Given the description of an element on the screen output the (x, y) to click on. 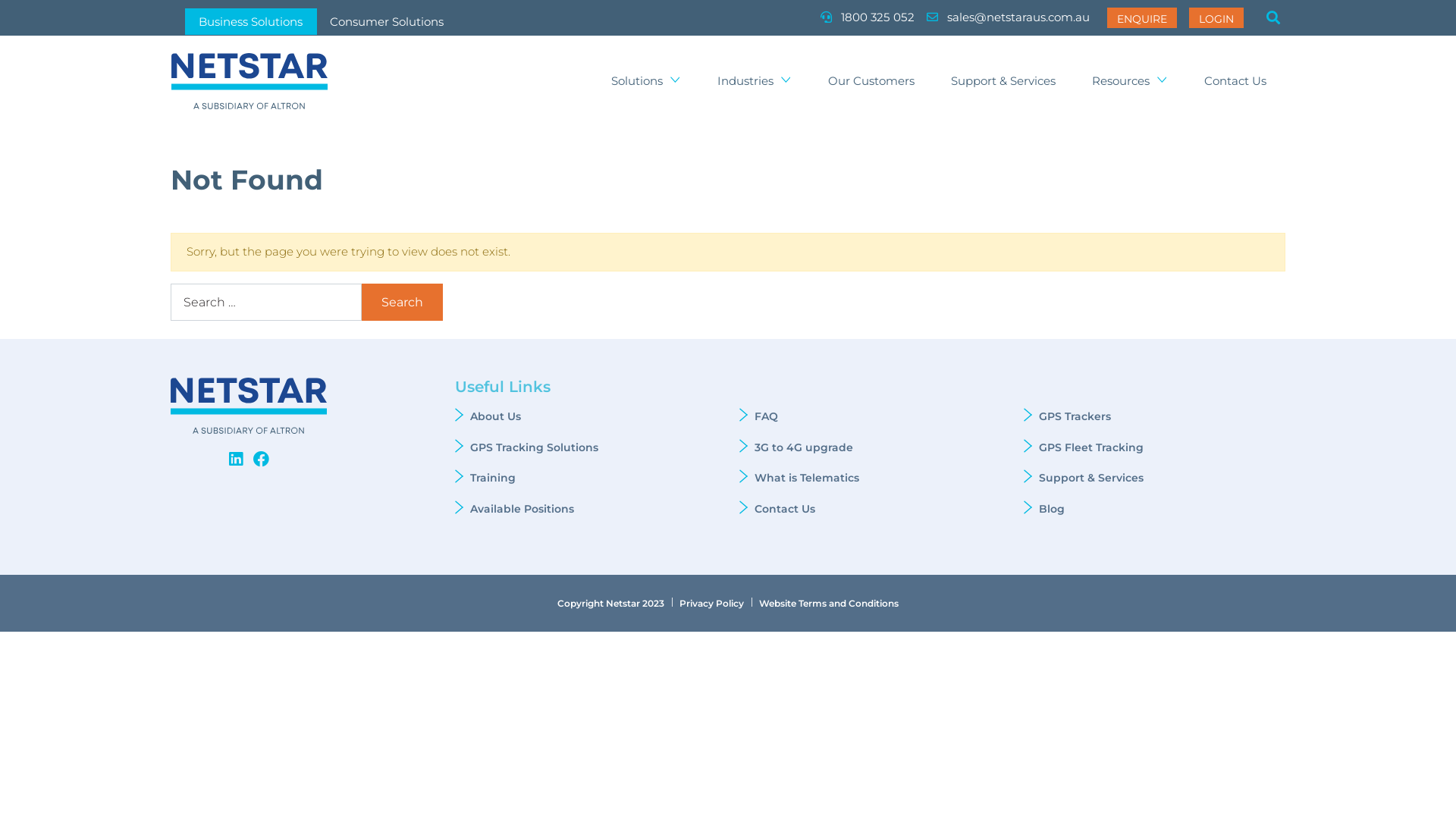
Support & Services Element type: text (1002, 81)
Privacy Policy Element type: text (711, 602)
Industries Element type: text (754, 81)
What is Telematics Element type: text (806, 477)
Resources Element type: text (1129, 81)
Training Element type: text (492, 477)
sales@netstaraus.com.au Element type: text (1007, 17)
ENQUIRE Element type: text (1141, 17)
Facebook Element type: text (261, 458)
Search Element type: text (401, 301)
GPS Trackers Element type: text (1074, 416)
Solutions Element type: text (646, 81)
FAQ Element type: text (766, 416)
Contact Us Element type: text (784, 508)
About Us Element type: text (495, 416)
3G to 4G upgrade  Element type: text (805, 447)
Consumer Solutions Element type: text (386, 21)
1800 325 052 Element type: text (867, 17)
Website Terms and Conditions Element type: text (828, 602)
Linkedin Element type: text (235, 458)
Search Element type: text (1273, 18)
GPS Fleet Tracking  Element type: text (1092, 447)
LOGIN Element type: text (1216, 17)
Support & Services Element type: text (1090, 477)
GPS Tracking Solutions Element type: text (534, 447)
Our Customers Element type: text (870, 81)
Contact Us Element type: text (1235, 81)
Business Solutions Element type: text (250, 21)
Available Positions Element type: text (522, 508)
Blog Element type: text (1051, 508)
